Given the description of an element on the screen output the (x, y) to click on. 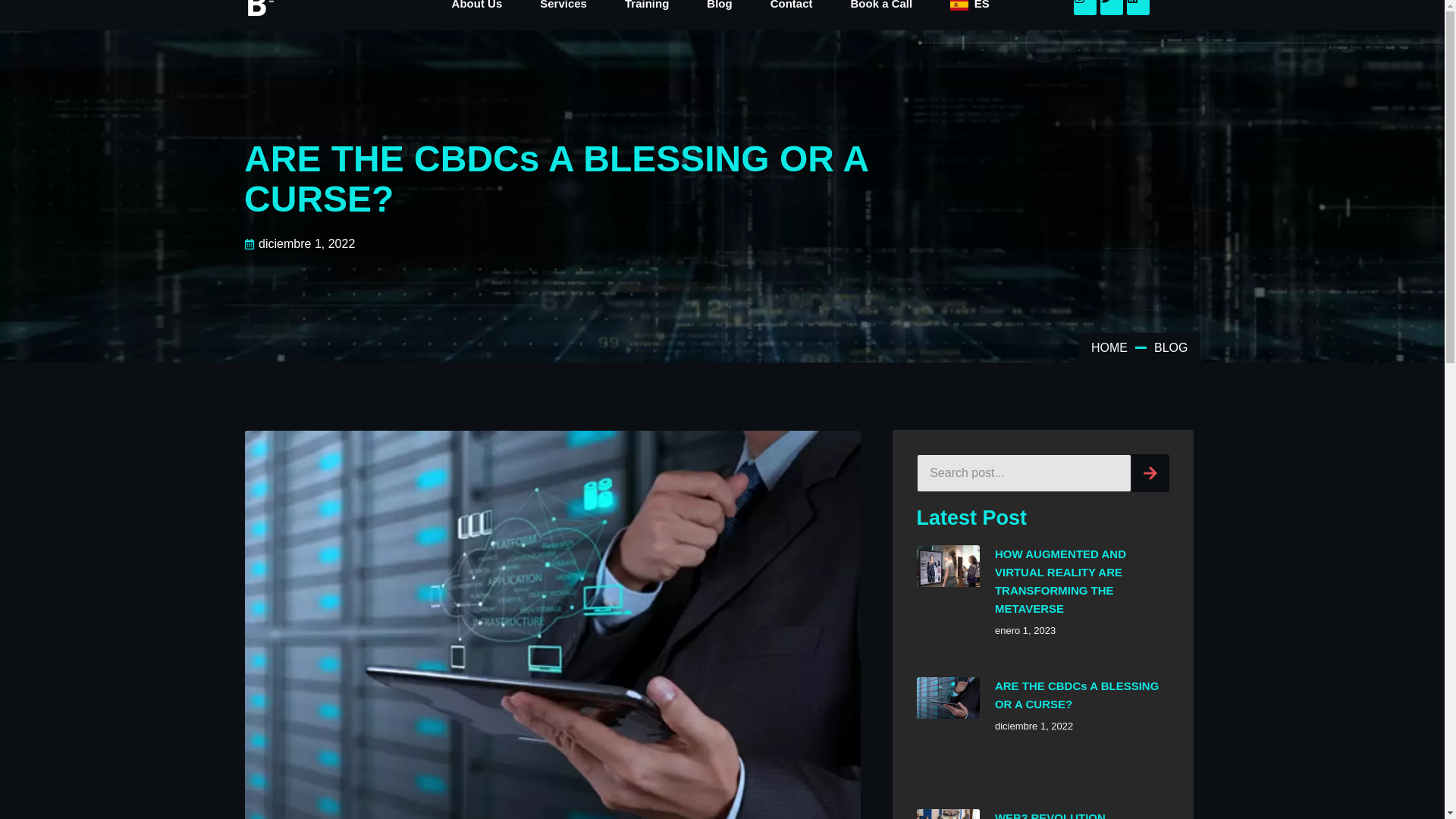
HOME (1108, 348)
ES (970, 11)
WEB3 REVOLUTION (1049, 815)
Training (646, 11)
BLOG (1171, 348)
Contact (791, 11)
Blog (719, 11)
Services (563, 11)
Book a Call (881, 11)
ARE THE CBDCs A BLESSING OR A CURSE? (1076, 694)
About Us (476, 11)
diciembre 1, 2022 (299, 244)
